Given the description of an element on the screen output the (x, y) to click on. 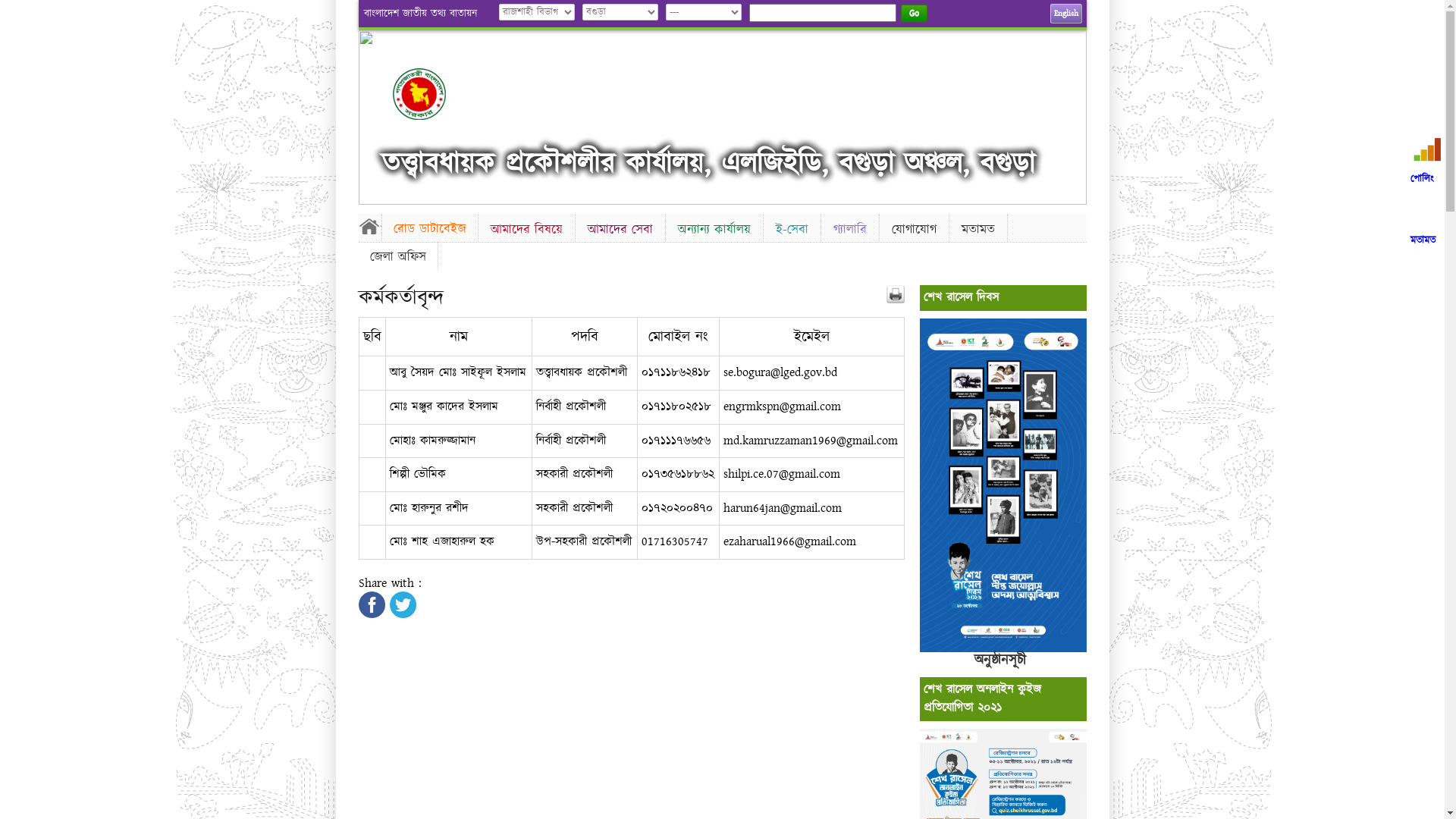
Home Element type: hover (431, 93)
English Element type: text (1065, 13)
Go Element type: text (913, 12)
Home Element type: hover (368, 225)
